Given the description of an element on the screen output the (x, y) to click on. 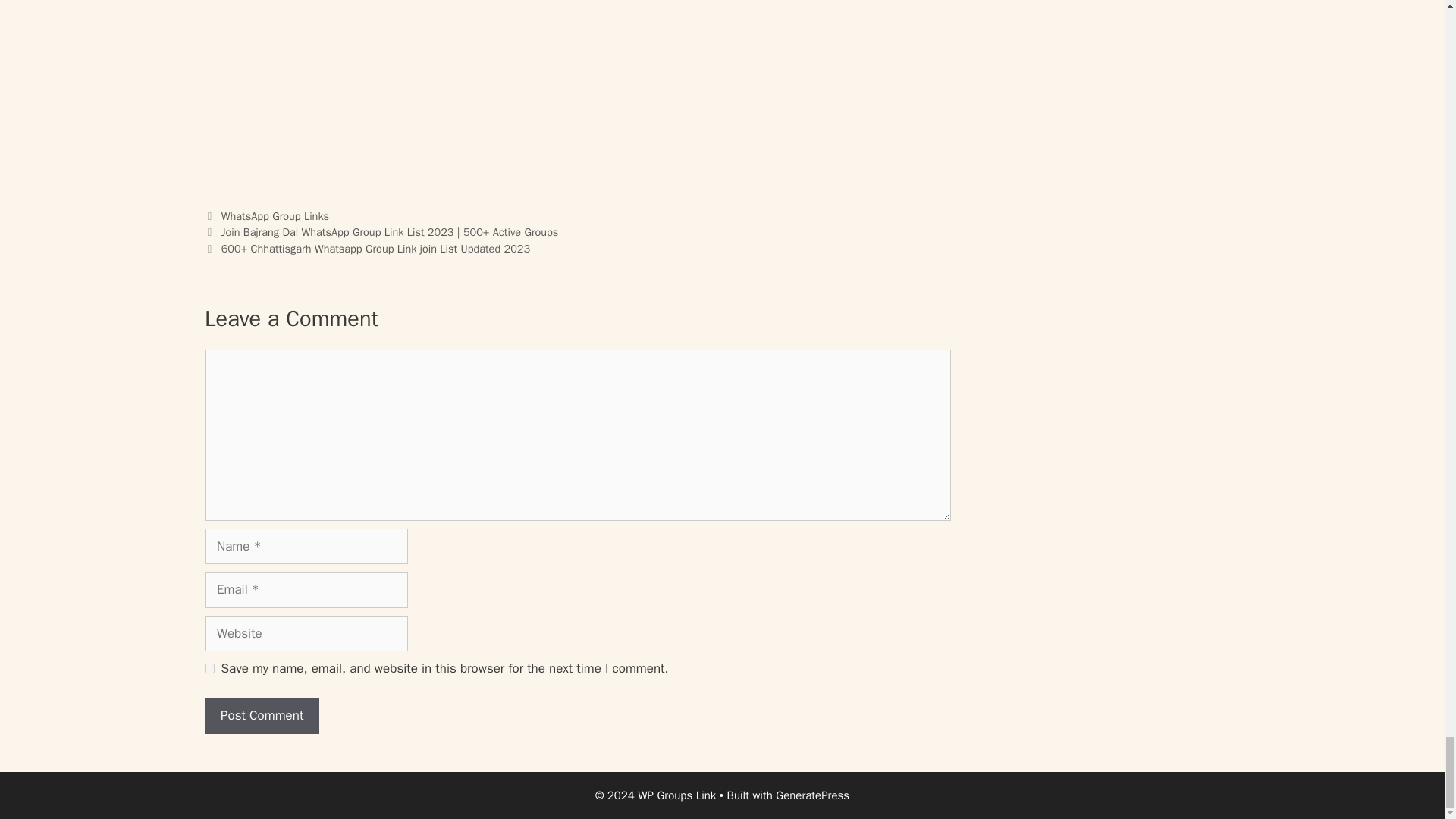
Post Comment (261, 715)
yes (209, 668)
